Given the description of an element on the screen output the (x, y) to click on. 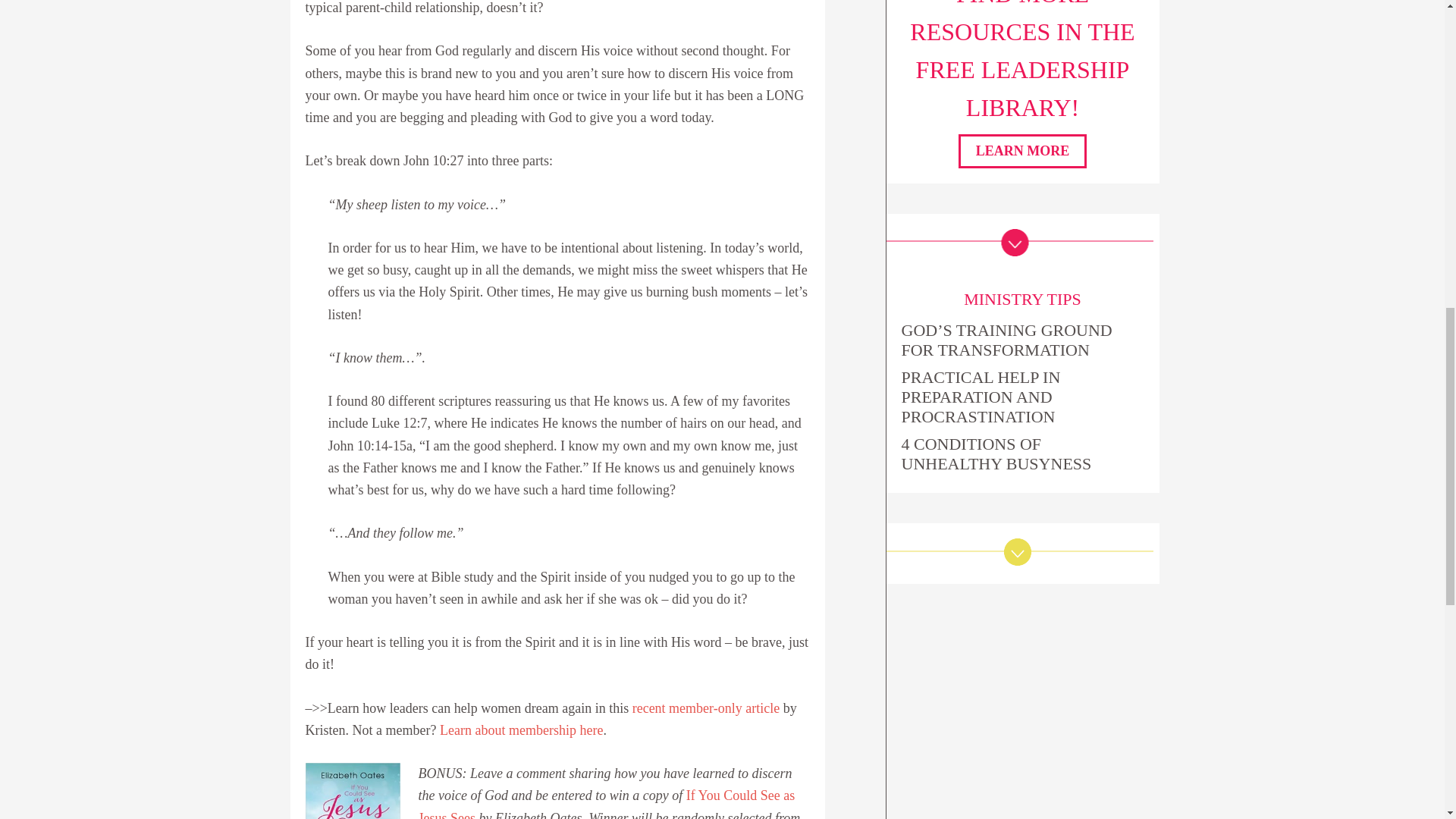
LEARN MORE (1022, 150)
If You Could See as Jesus Sees (606, 803)
PRACTICAL HELP IN PREPARATION AND PROCRASTINATION (1021, 396)
recent member-only article (705, 708)
Learn about membership here (520, 729)
4 CONDITIONS OF UNHEALTHY BUSYNESS (1021, 453)
